Given the description of an element on the screen output the (x, y) to click on. 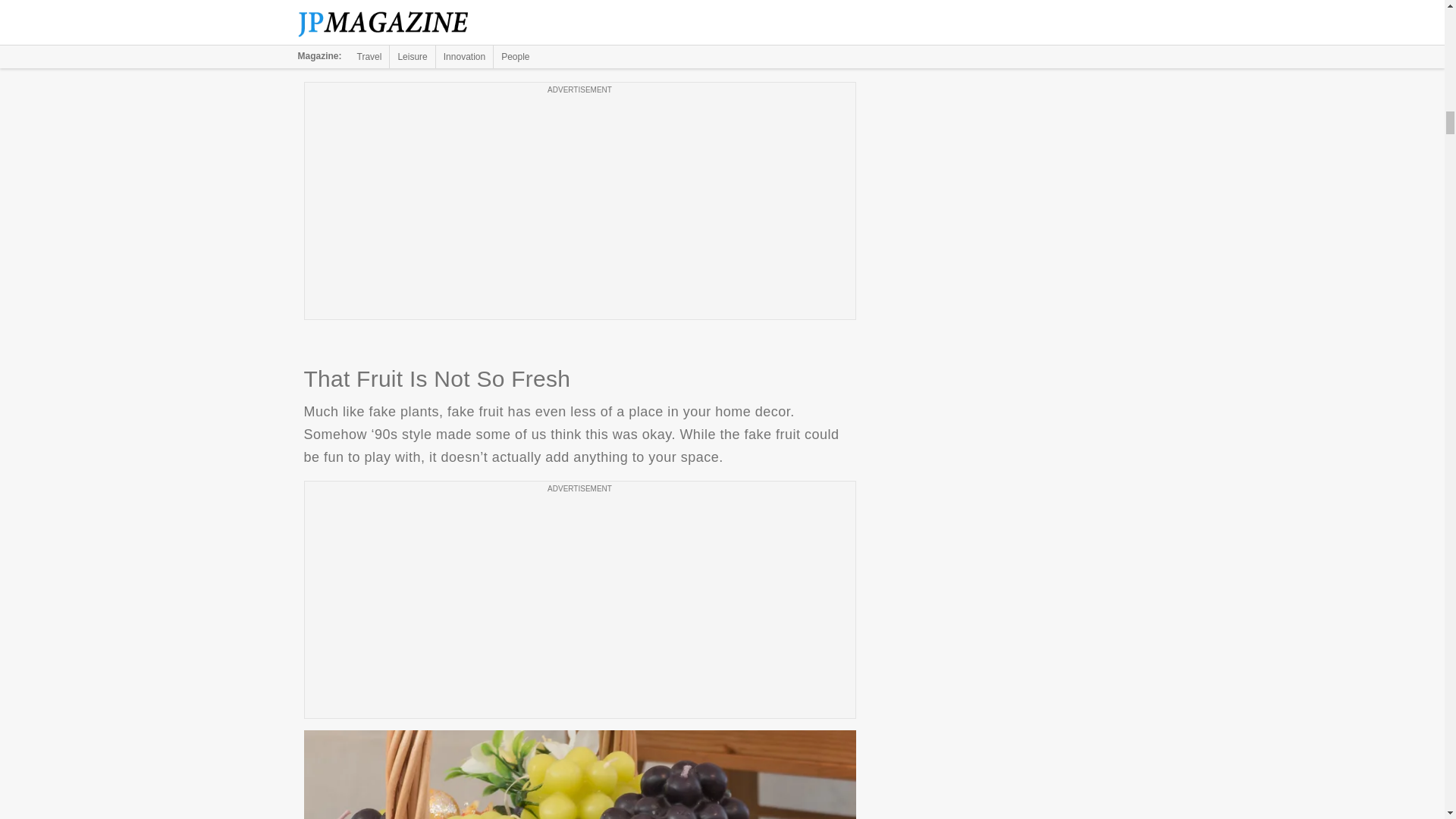
That Fruit Is Not So Fresh (579, 774)
